Given the description of an element on the screen output the (x, y) to click on. 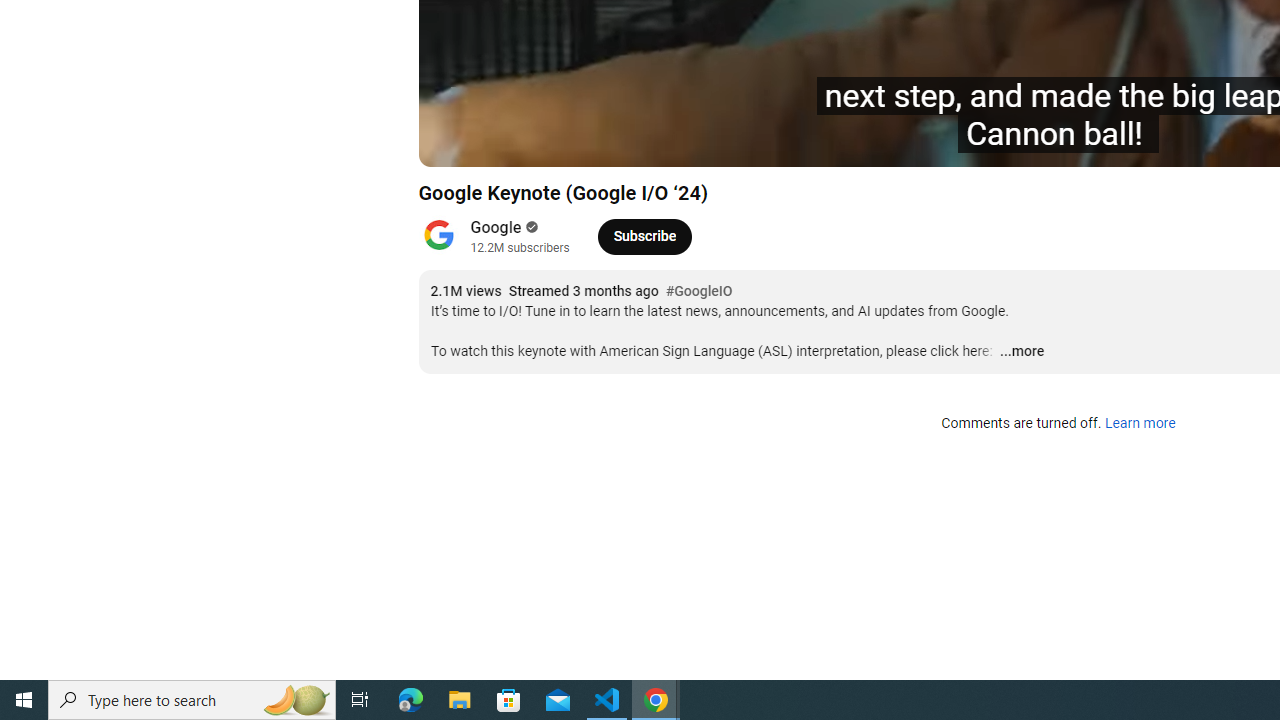
Subscribe to Google. (644, 236)
#GoogleIO (699, 291)
...more (1021, 352)
Opening Film (717, 142)
Verified (530, 227)
Next (SHIFT+n) (500, 142)
Learn more (1139, 423)
Mute (m) (548, 142)
Pause (k) (453, 142)
